Given the description of an element on the screen output the (x, y) to click on. 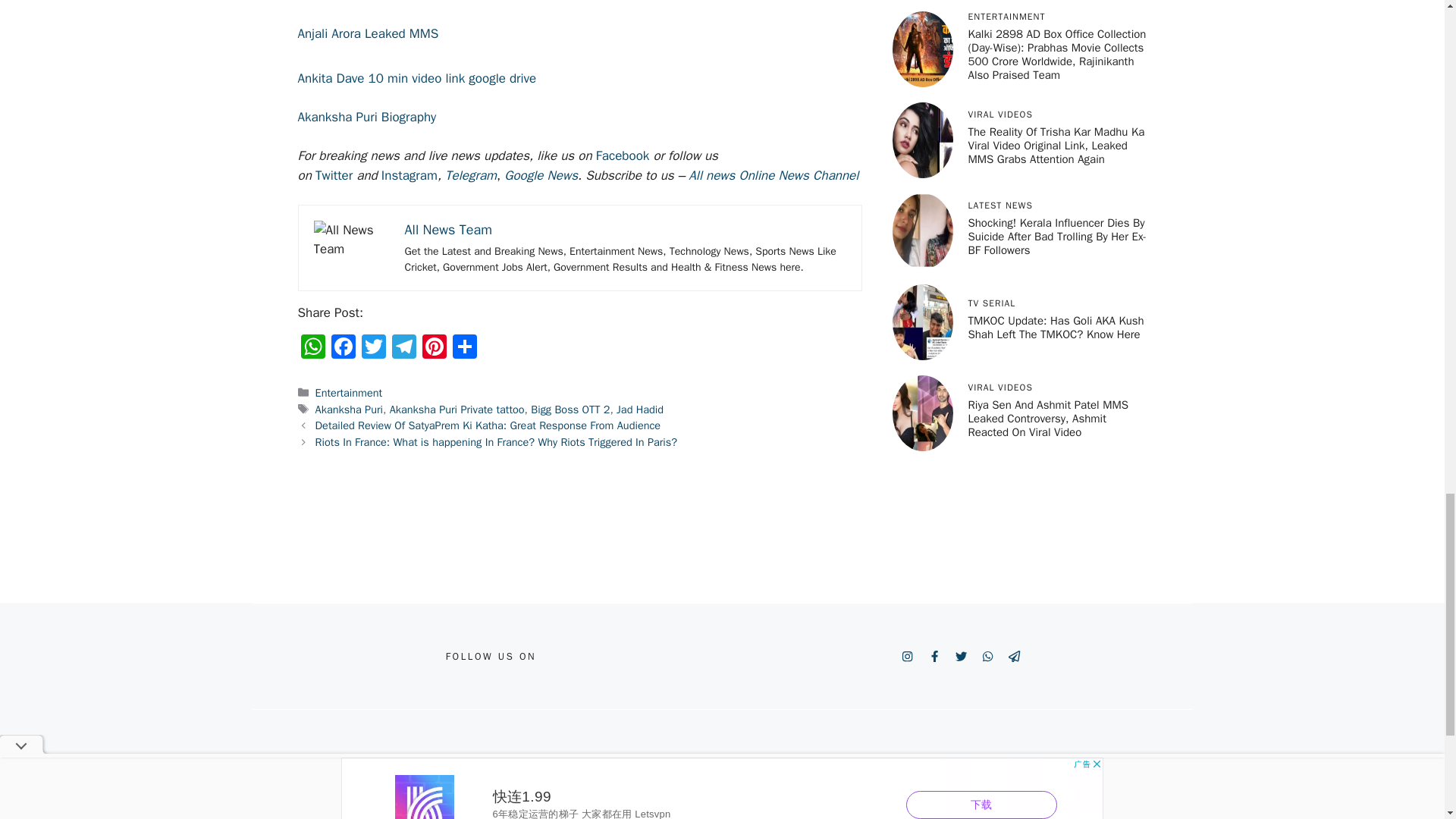
Akanksha Puri Passionate Kiss (352, 239)
Facebook (622, 155)
Ankita Dave 10 min video link google drive (416, 78)
Anjali Arora Leaked MMS (367, 33)
Akanksha Puri Biography (366, 116)
Swiffer Girl Danielle Miller Viral Video (401, 1)
